Given the description of an element on the screen output the (x, y) to click on. 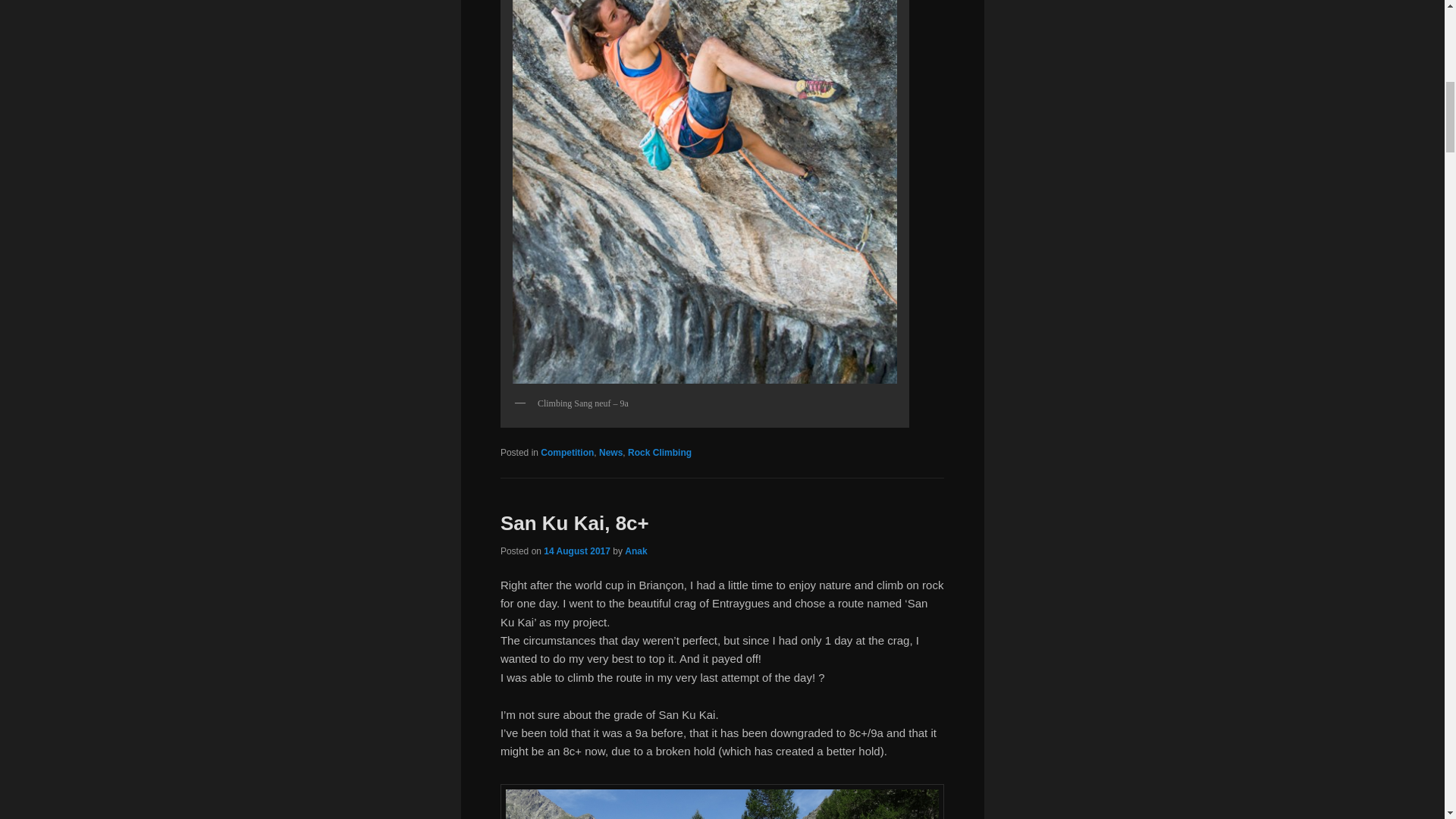
Competition (567, 452)
View all posts by Anak (635, 551)
Rock Climbing (659, 452)
13:55 (576, 551)
Anak (635, 551)
14 August 2017 (576, 551)
Bewerkt (721, 630)
News (610, 452)
